Given the description of an element on the screen output the (x, y) to click on. 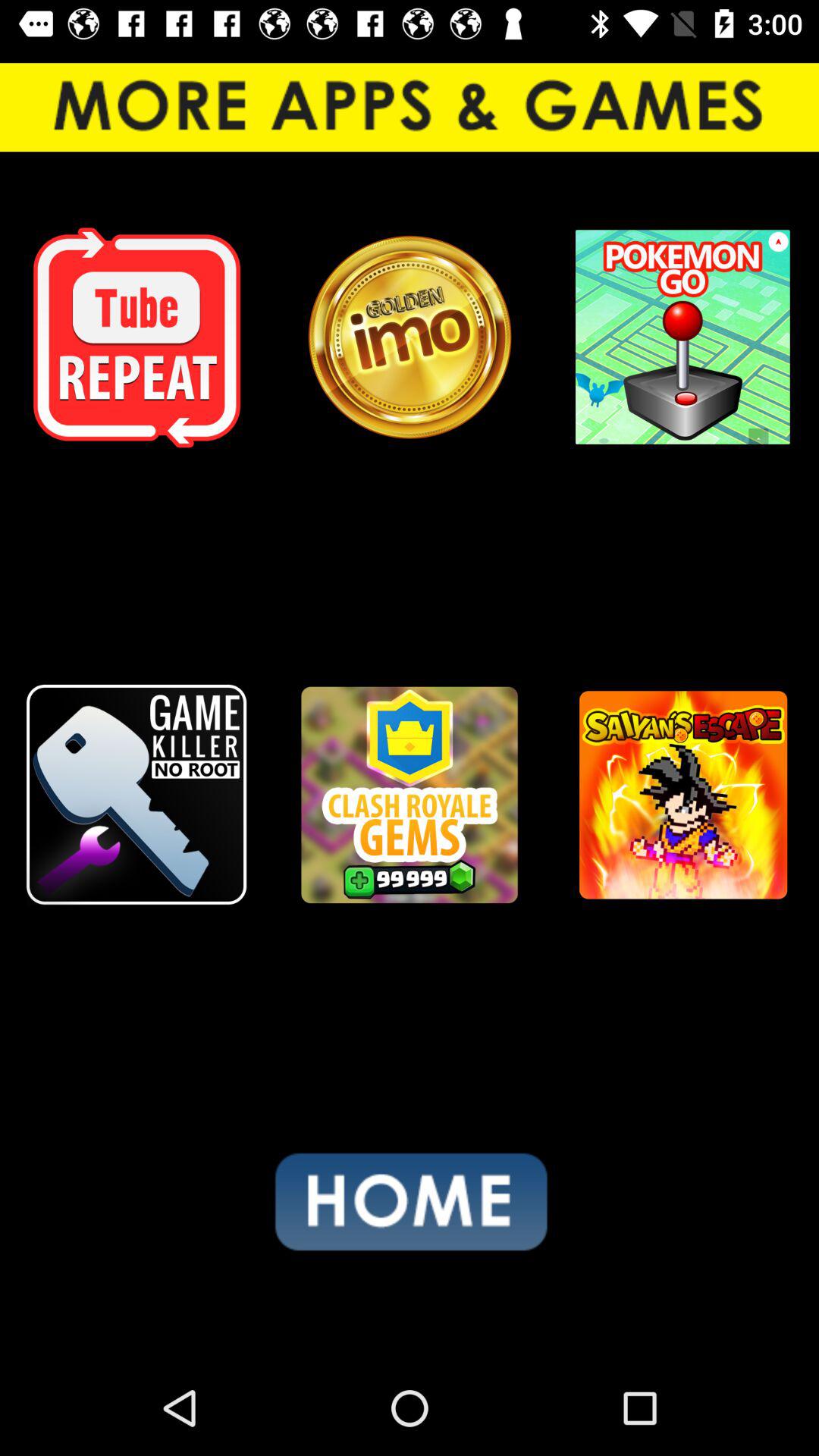
tap icon on the right (682, 794)
